Given the description of an element on the screen output the (x, y) to click on. 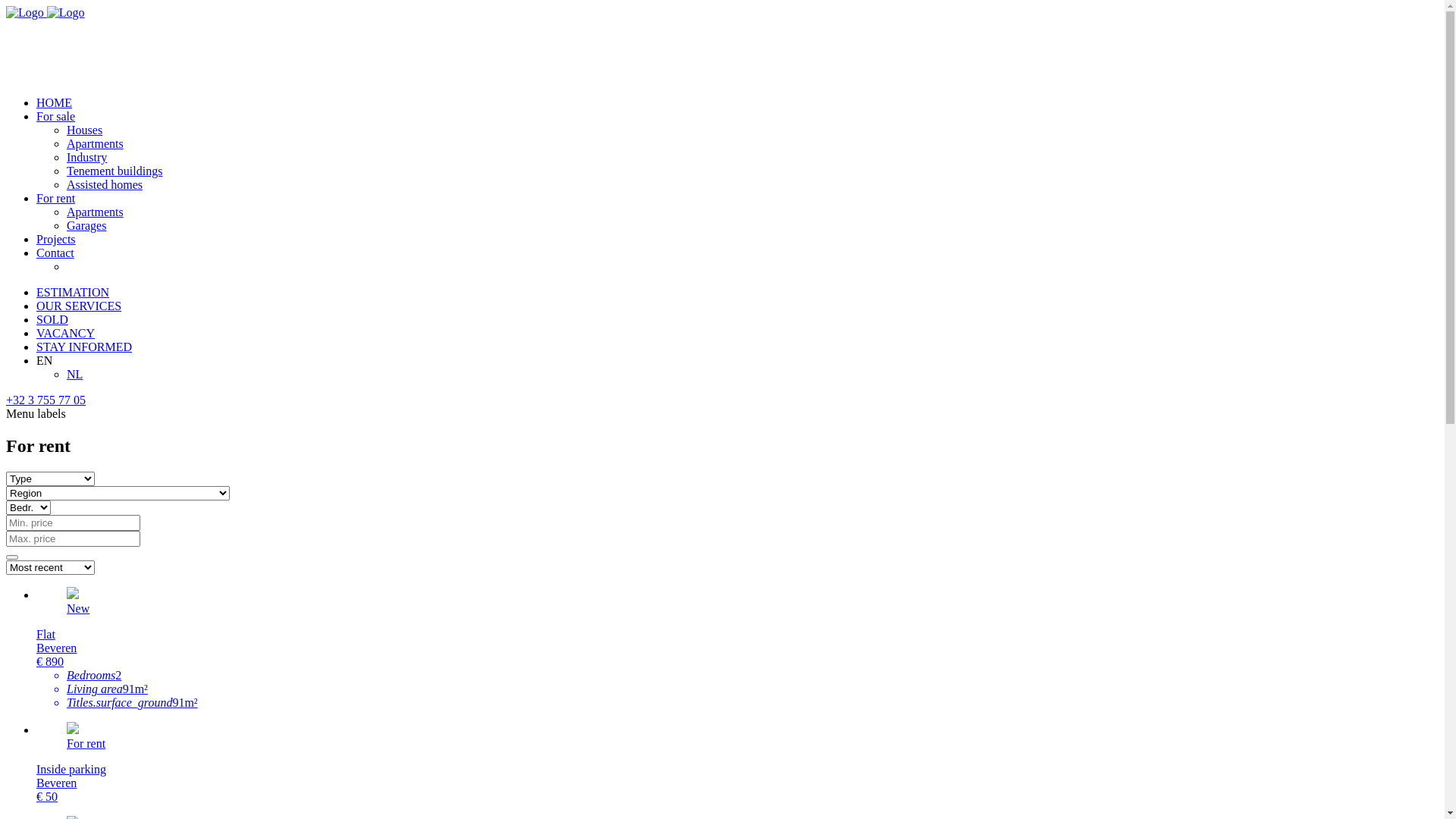
Houses Element type: text (84, 129)
For rent Element type: text (55, 197)
Tenement buildings Element type: text (114, 170)
STAY INFORMED Element type: text (83, 346)
+32 3 755 77 05 Element type: text (45, 399)
Assisted homes Element type: text (104, 184)
Contact Element type: text (55, 252)
For sale Element type: text (55, 115)
ESTIMATION Element type: text (72, 291)
Apartments Element type: text (94, 211)
VACANCY Element type: text (65, 332)
Industry Element type: text (86, 156)
OUR SERVICES Element type: text (78, 305)
NL Element type: text (74, 373)
Apartments Element type: text (94, 143)
Garages Element type: text (86, 225)
Projects Element type: text (55, 238)
SOLD Element type: text (52, 319)
HOME Element type: text (54, 102)
